Given the description of an element on the screen output the (x, y) to click on. 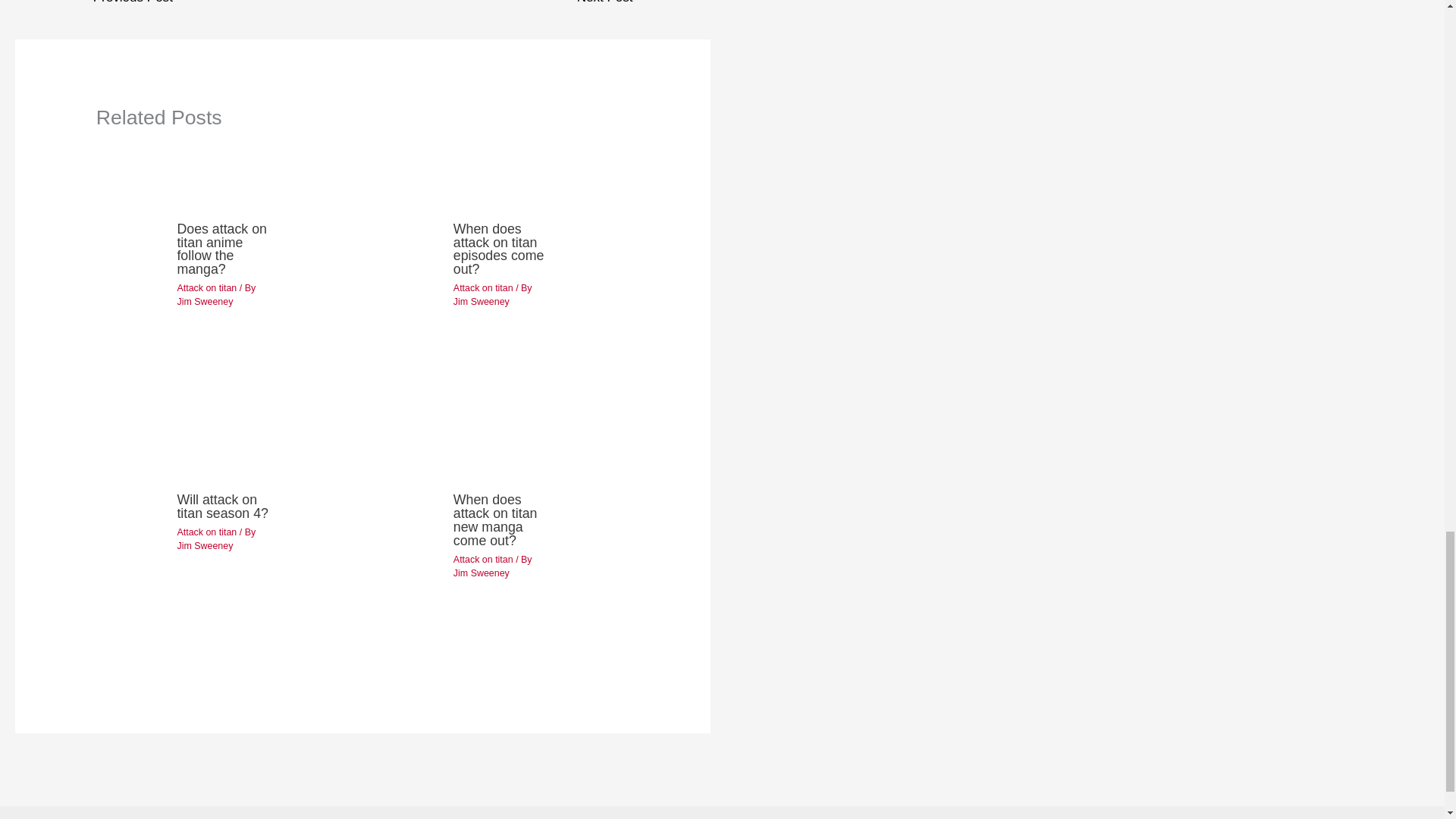
Jim Sweeney (480, 573)
Jim Sweeney (480, 301)
Jim Sweeney (204, 545)
View all posts by Jim Sweeney (480, 301)
Attack on titan (482, 559)
Attack on titan (205, 532)
View all posts by Jim Sweeney (204, 301)
View all posts by Jim Sweeney (480, 573)
View all posts by Jim Sweeney (204, 545)
Does attack on titan anime follow the manga? (221, 248)
